Given the description of an element on the screen output the (x, y) to click on. 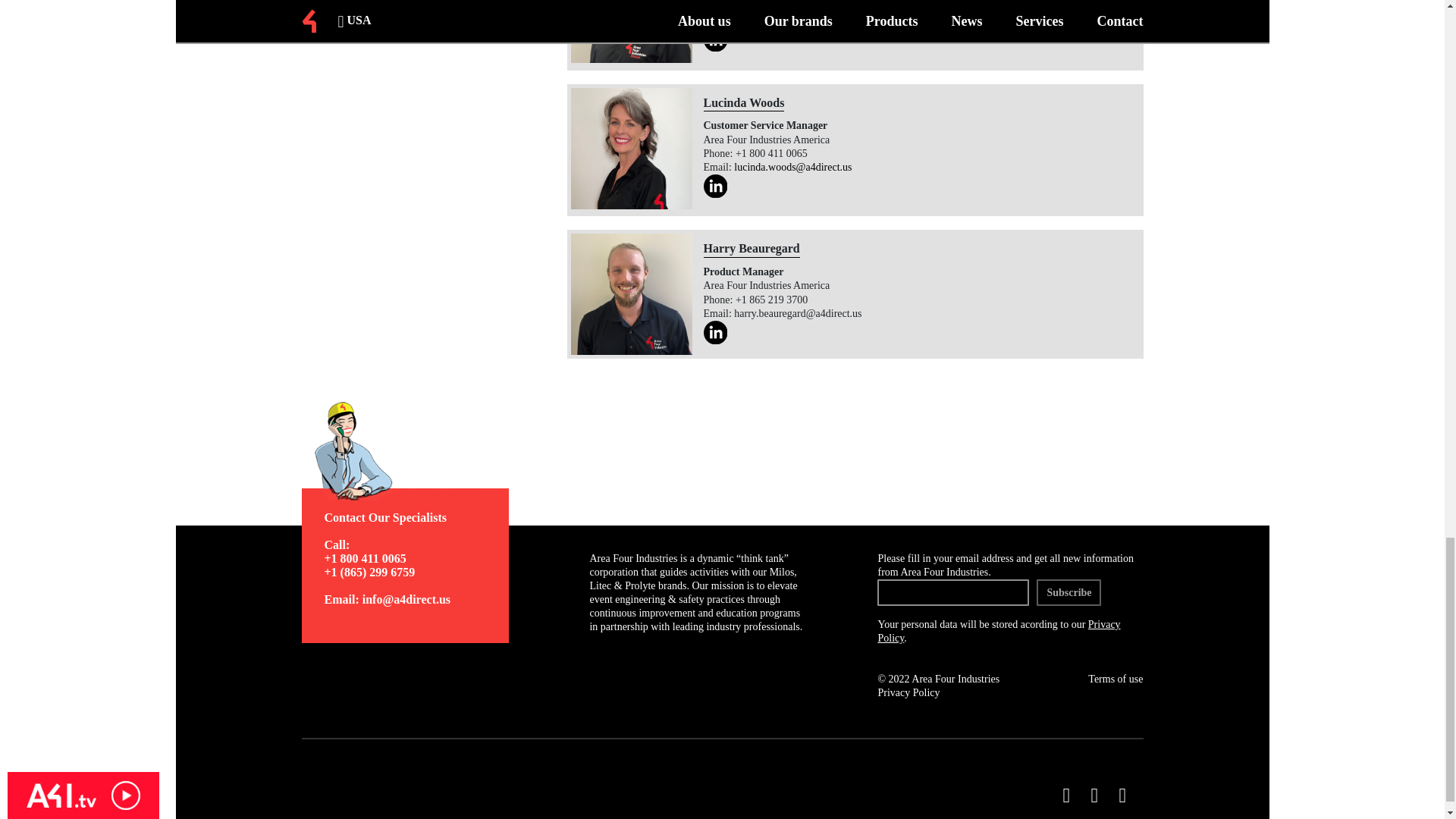
Our specialist (390, 451)
Lucinda Woods  (630, 148)
Douglas DeBusschere (630, 31)
Harry Beauregard  (630, 293)
